Given the description of an element on the screen output the (x, y) to click on. 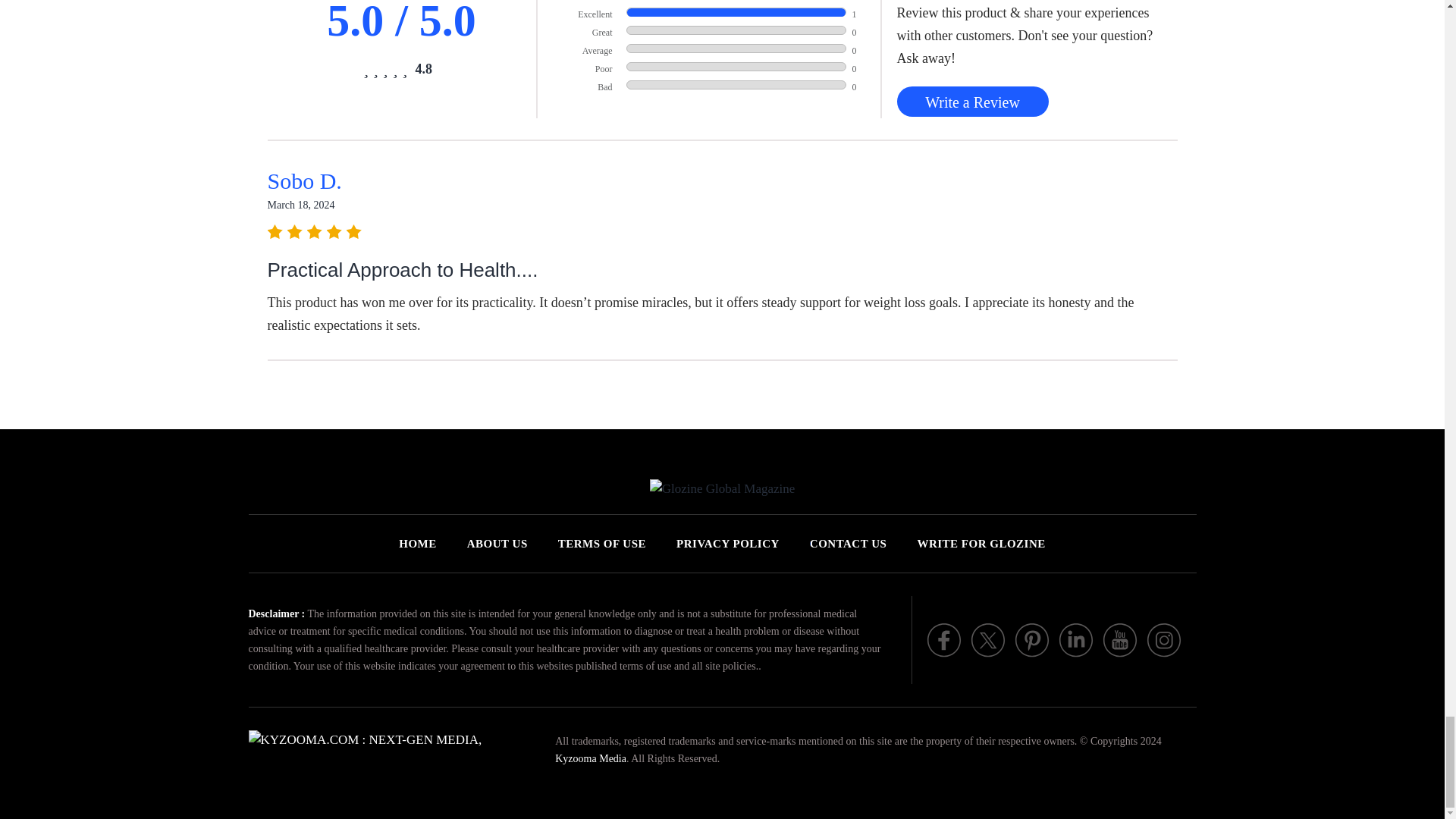
gorgeous (384, 68)
